Given the description of an element on the screen output the (x, y) to click on. 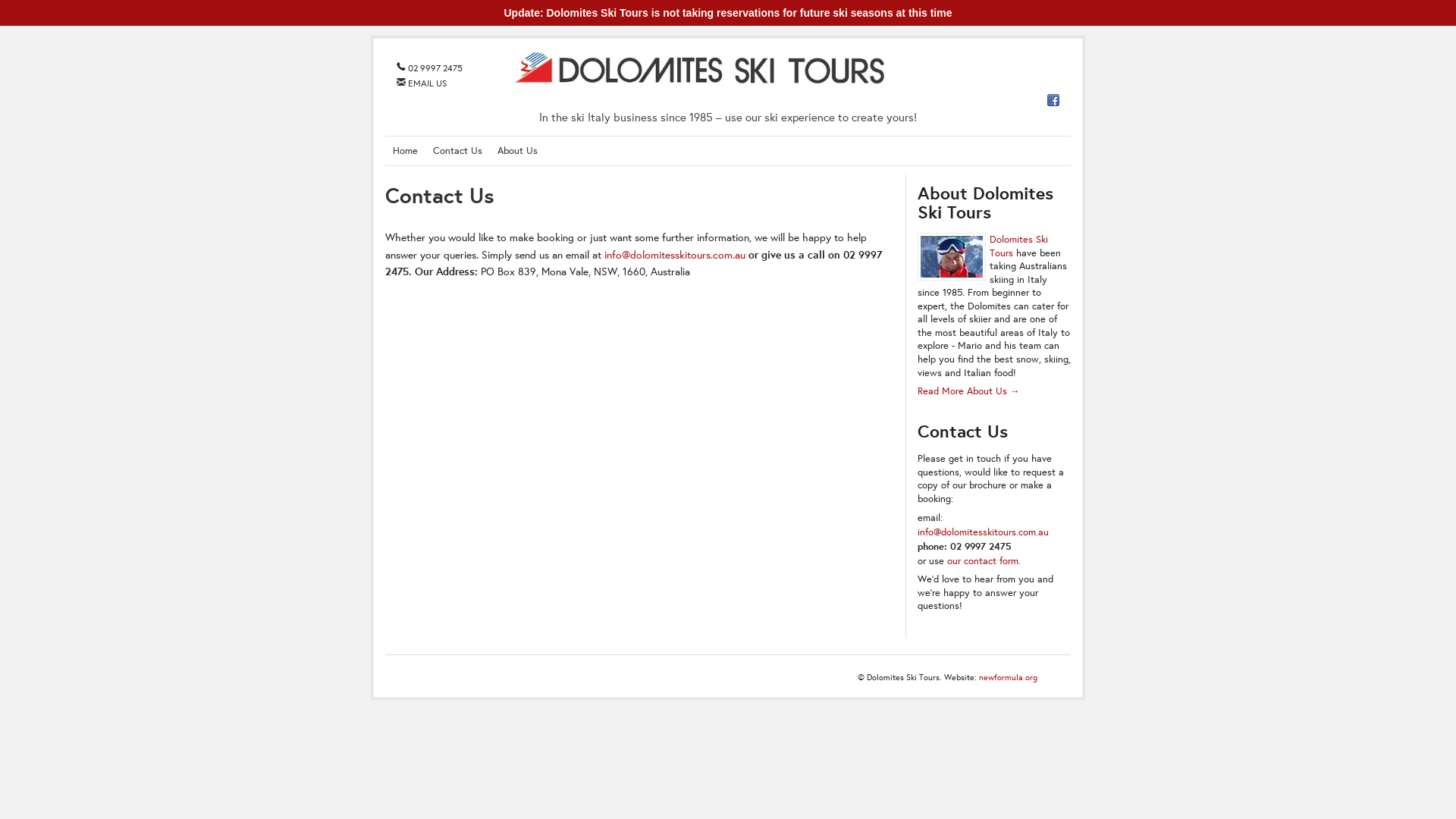
Dolomites Ski Tours Element type: text (1017, 245)
Contact Us Element type: text (457, 150)
About Us Element type: text (517, 150)
newformula.org Element type: text (1008, 676)
our contact form. Element type: text (982, 560)
Home Element type: text (405, 150)
Dolomites Ski Tours Element type: hover (699, 83)
EMAIL US Element type: text (421, 82)
info@dolomitesskitours.com.au Element type: text (982, 531)
info@dolomitesskitours.com.au Element type: text (674, 254)
